Given the description of an element on the screen output the (x, y) to click on. 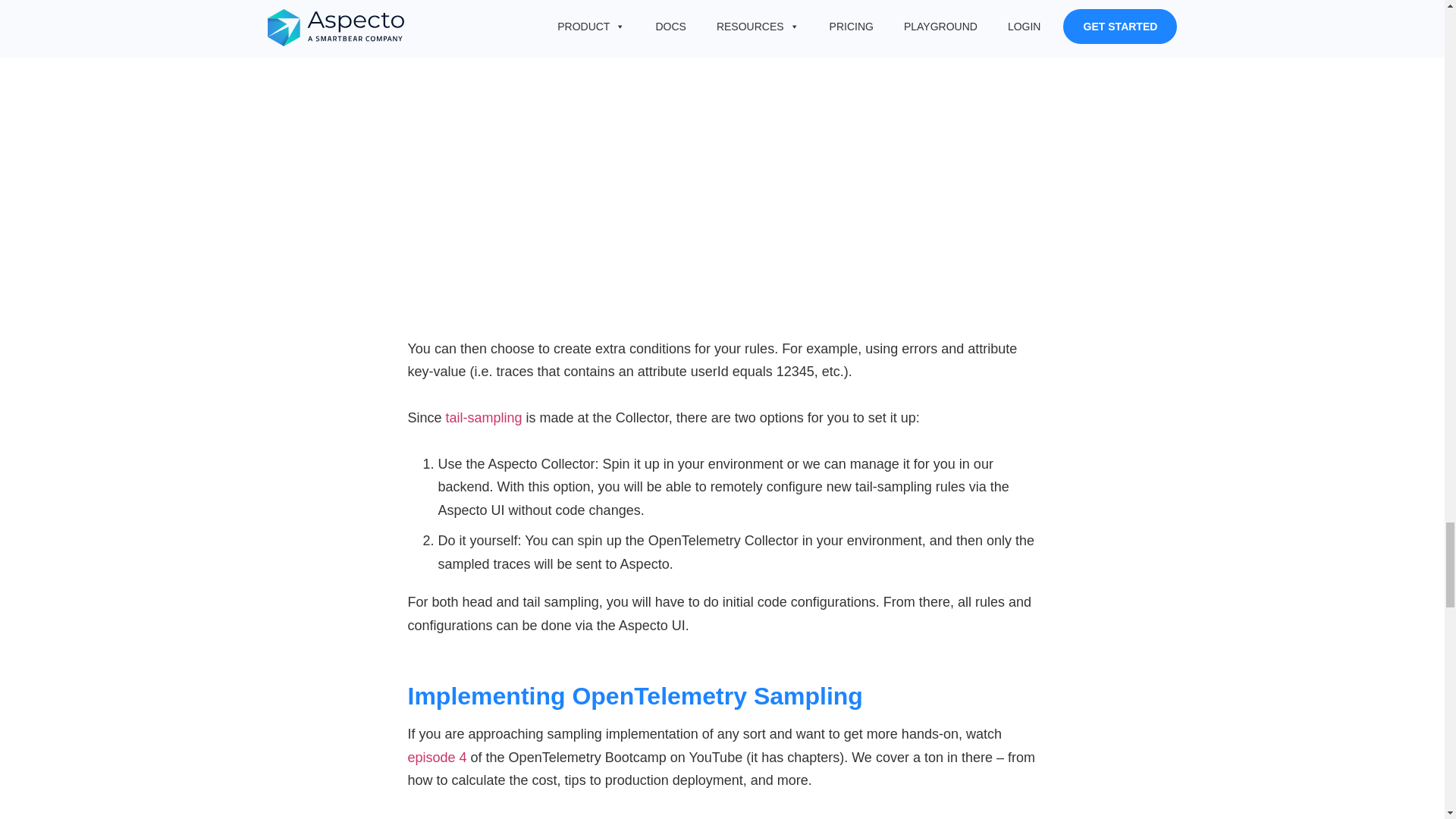
episode 4 (437, 757)
tail-sampling (483, 417)
